Given the description of an element on the screen output the (x, y) to click on. 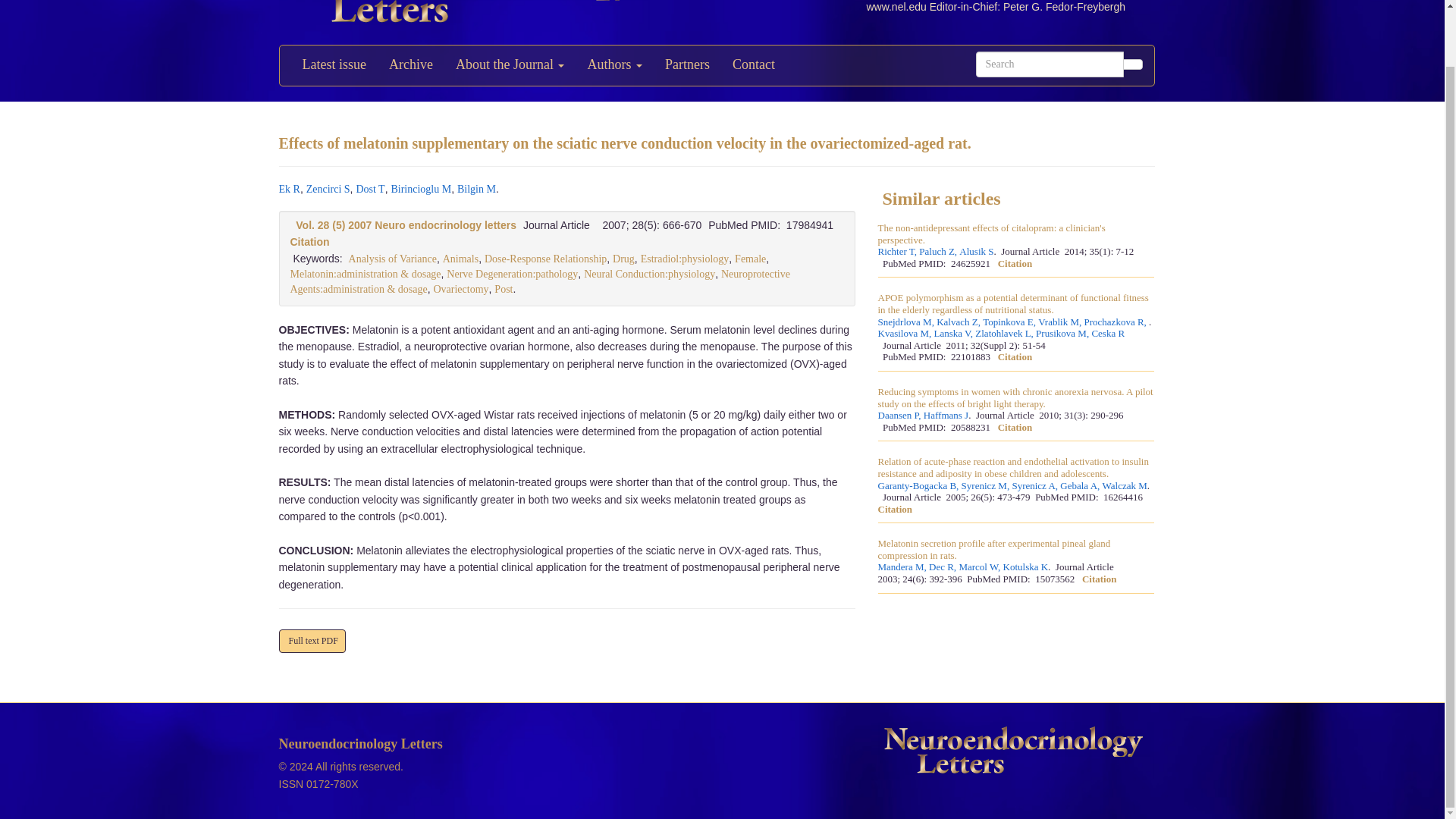
Female (750, 258)
Ovariectomy (459, 288)
NEL280507A10.pdf (312, 640)
Nerve Degeneration:pathology (512, 274)
Partners (686, 65)
About the Journal (509, 65)
Estradiol:physiology (684, 258)
Analysis of Variance (392, 258)
Archive (410, 65)
Latest issue (334, 65)
Birincioglu M (420, 188)
Animals (460, 258)
Post (503, 288)
Neural Conduction:physiology (648, 274)
